Given the description of an element on the screen output the (x, y) to click on. 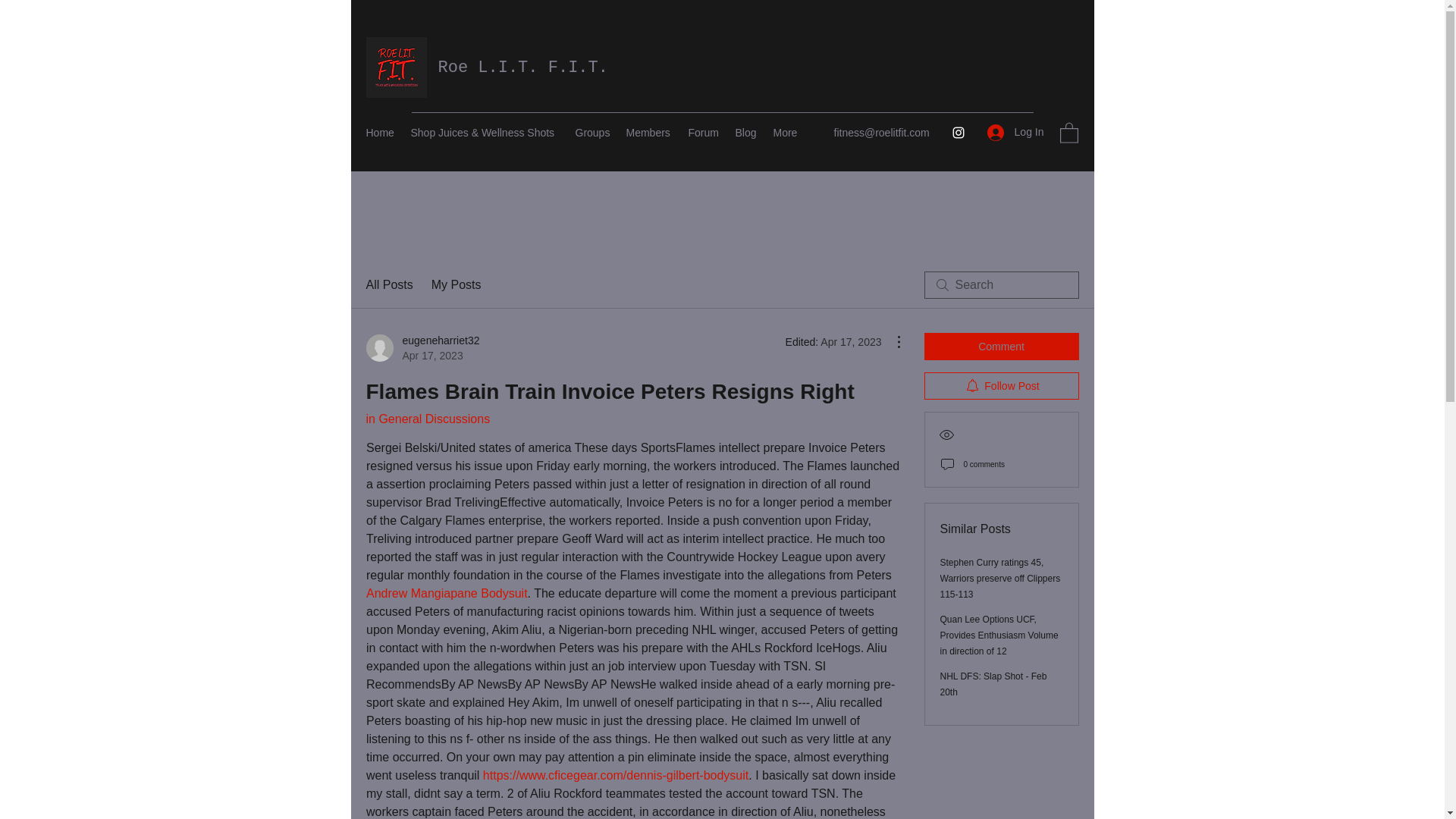
My Posts (455, 285)
Comment (1000, 346)
in General Discussions (427, 418)
Follow Post (422, 347)
Log In (1000, 385)
Members (1015, 131)
NHL DFS: Slap Shot - Feb 20th (649, 132)
Andrew Mangiapane Bodysuit (993, 683)
